Given the description of an element on the screen output the (x, y) to click on. 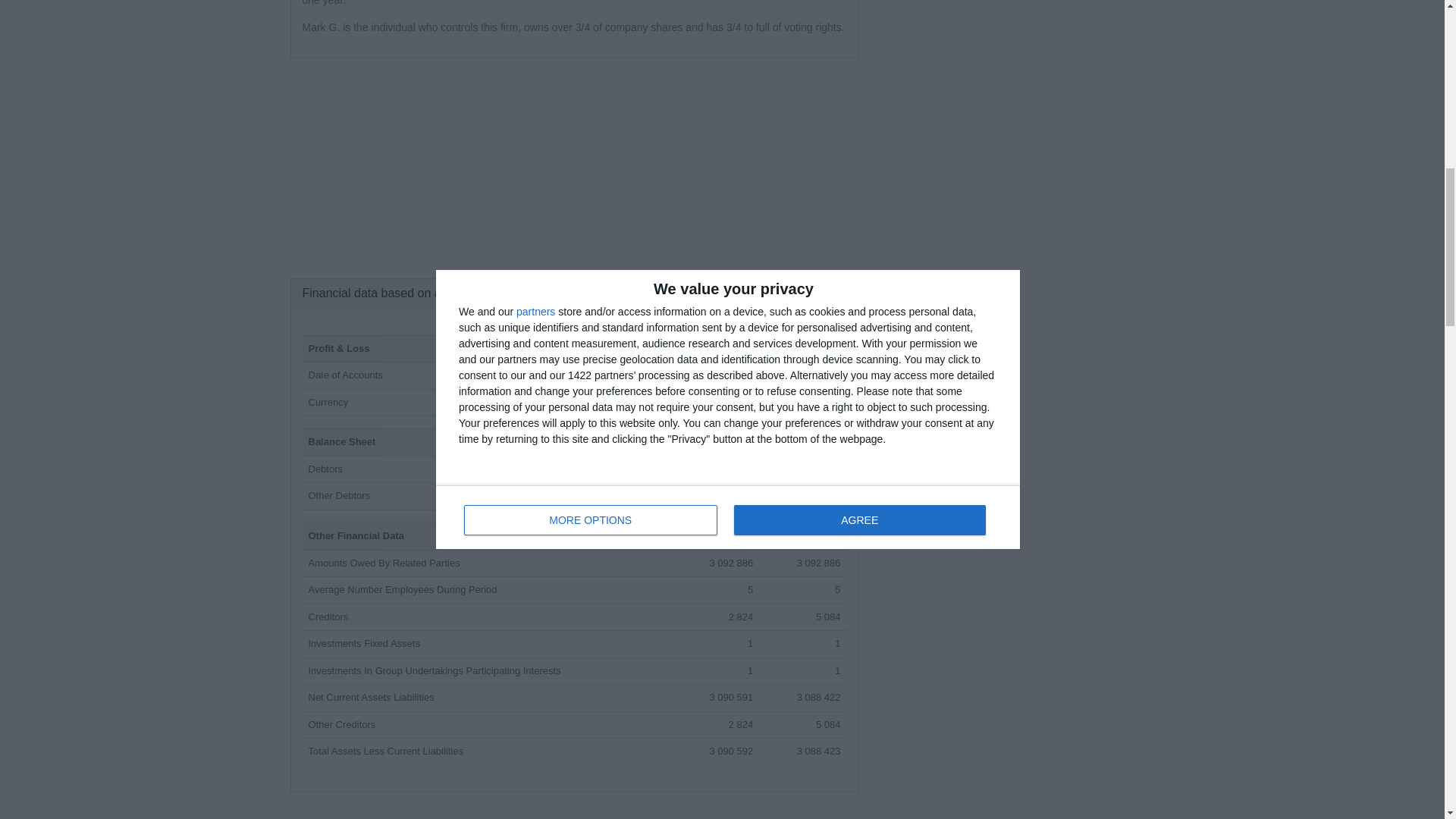
AverageNumberEmployeesDuringPeriod (401, 589)
Creditors (327, 616)
Money that other companies or people owe to the business (324, 469)
Other debtors (338, 495)
AmountsOwedByRelatedParties (383, 562)
